Given the description of an element on the screen output the (x, y) to click on. 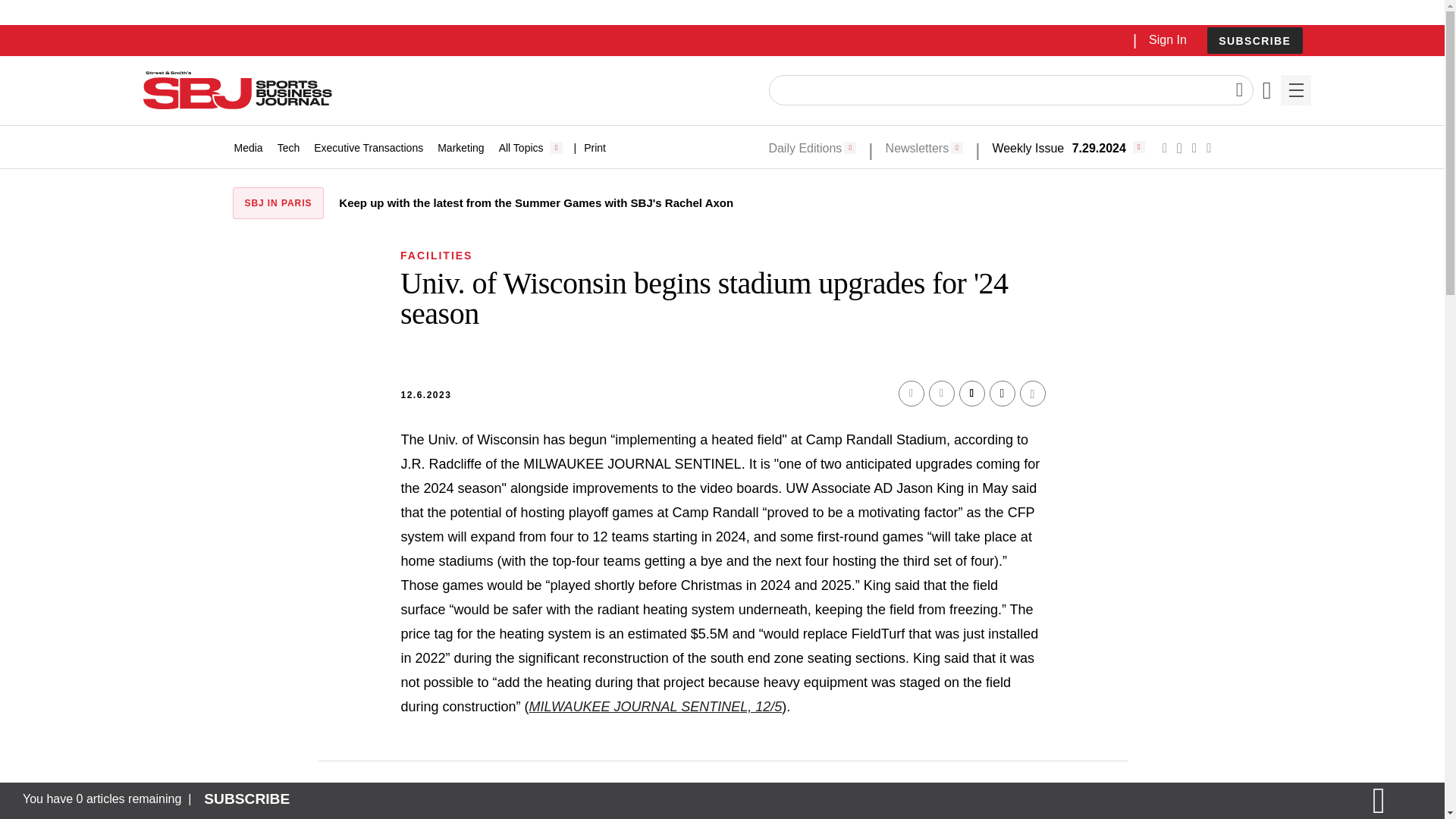
SIGN IN (1194, 324)
SUBSCRIBE (1255, 40)
Menu (1294, 90)
SUBSCRIBE (1254, 40)
Sign In (1167, 40)
